Given the description of an element on the screen output the (x, y) to click on. 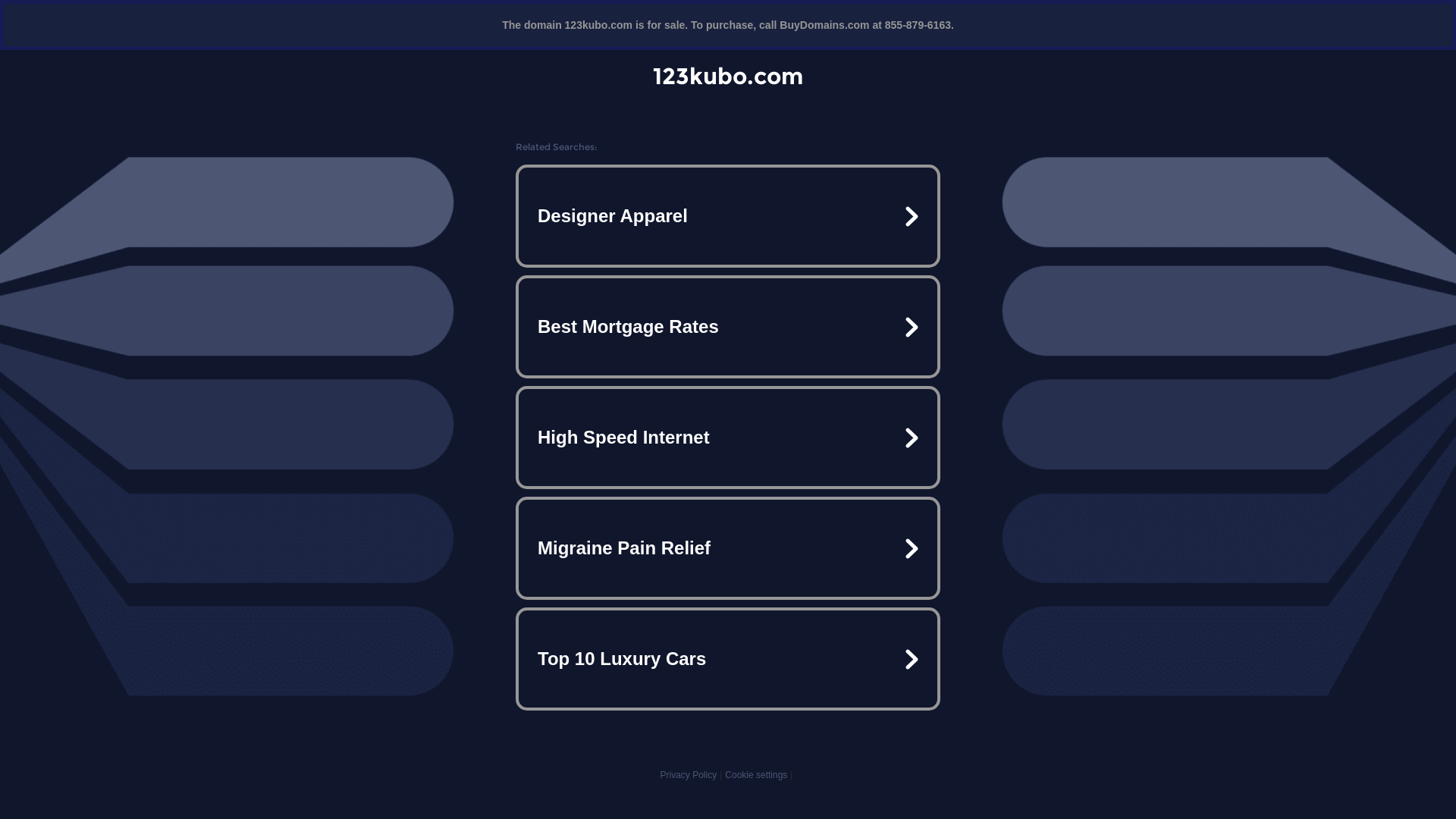
Designer Apparel Element type: text (727, 215)
Cookie settings Element type: text (755, 774)
High Speed Internet Element type: text (727, 437)
123kubo.com Element type: text (727, 76)
Migraine Pain Relief Element type: text (727, 547)
Privacy Policy Element type: text (687, 774)
Best Mortgage Rates Element type: text (727, 326)
Top 10 Luxury Cars Element type: text (727, 658)
